Given the description of an element on the screen output the (x, y) to click on. 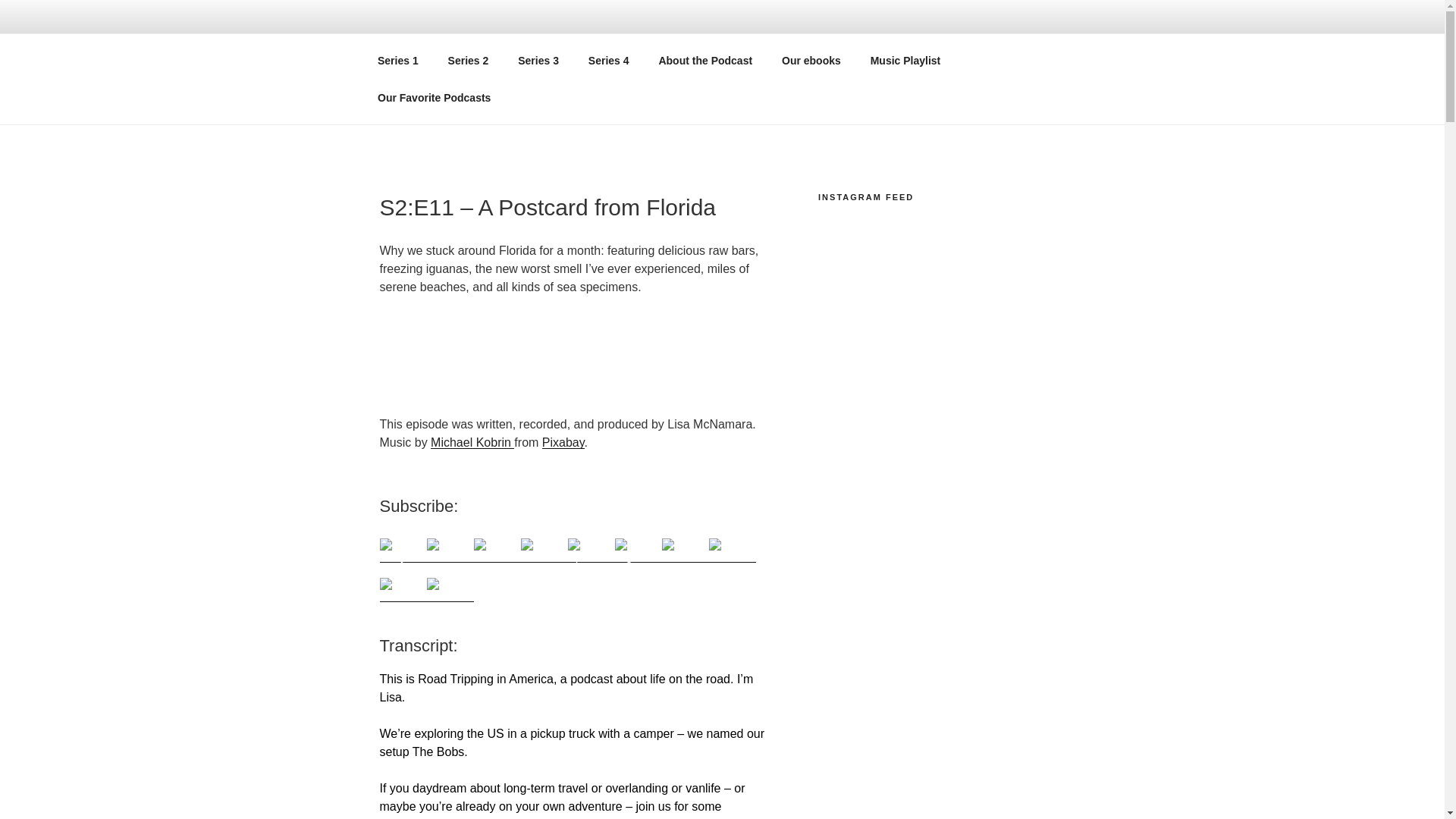
Series 2 (467, 60)
Our ebooks (811, 60)
Series 4 (608, 60)
ROAD TRIPPING IN AMERICA (597, 52)
Amazon-Music (731, 550)
Anchor (449, 550)
Michael Kobrin (471, 440)
Pixabay (563, 440)
PocketCasts (543, 550)
Our Favorite Podcasts (433, 97)
